Given the description of an element on the screen output the (x, y) to click on. 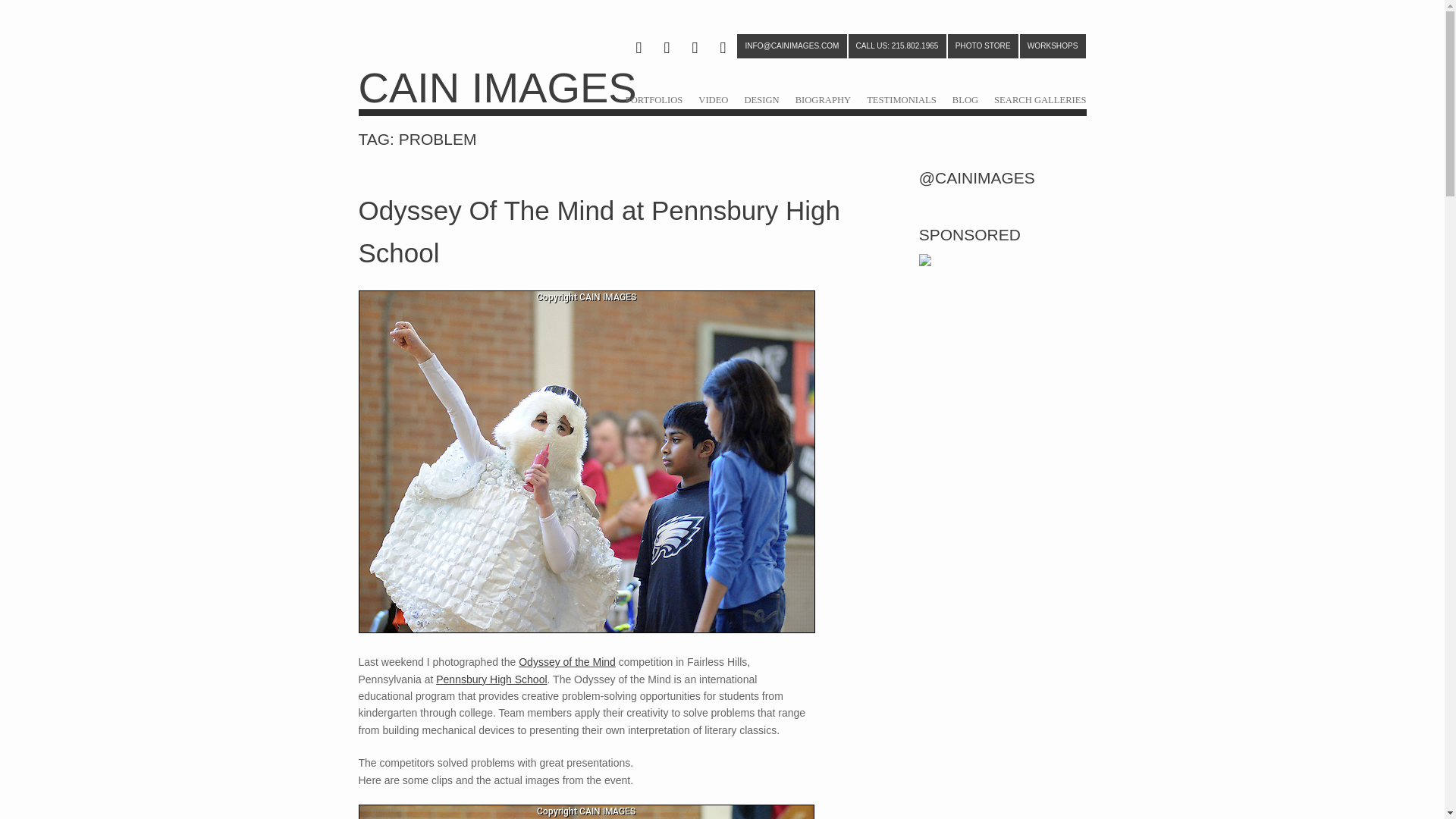
DESIGN (761, 99)
TWITTER (665, 47)
Skip to content (641, 96)
PORTFOLIOS (654, 99)
TESTIMONIALS (901, 99)
PHOTO STORE (982, 46)
SEARCH GALLERIES (1040, 99)
Odyssey Of The Mind at Pennsbury High School (599, 231)
LINKEDIN (722, 47)
Facebook (694, 47)
Southeast Pennsylvania Odyssey of the Mind tournament (585, 811)
BLOG (965, 99)
FACEBOOK (694, 47)
CAIN IMAGES (497, 87)
